Given the description of an element on the screen output the (x, y) to click on. 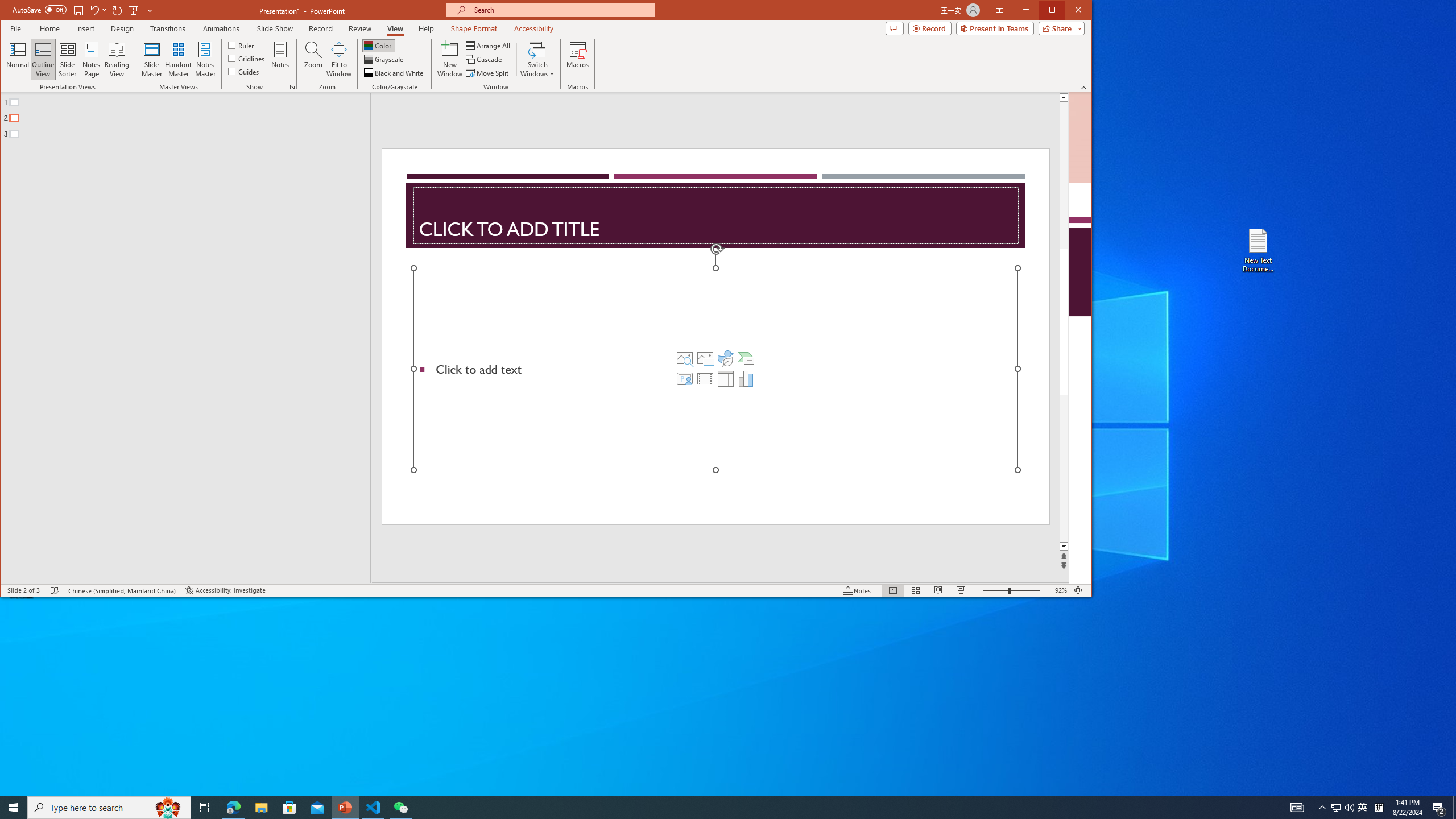
Gridlines (246, 57)
Zoom... (312, 59)
Outline View (42, 59)
